Given the description of an element on the screen output the (x, y) to click on. 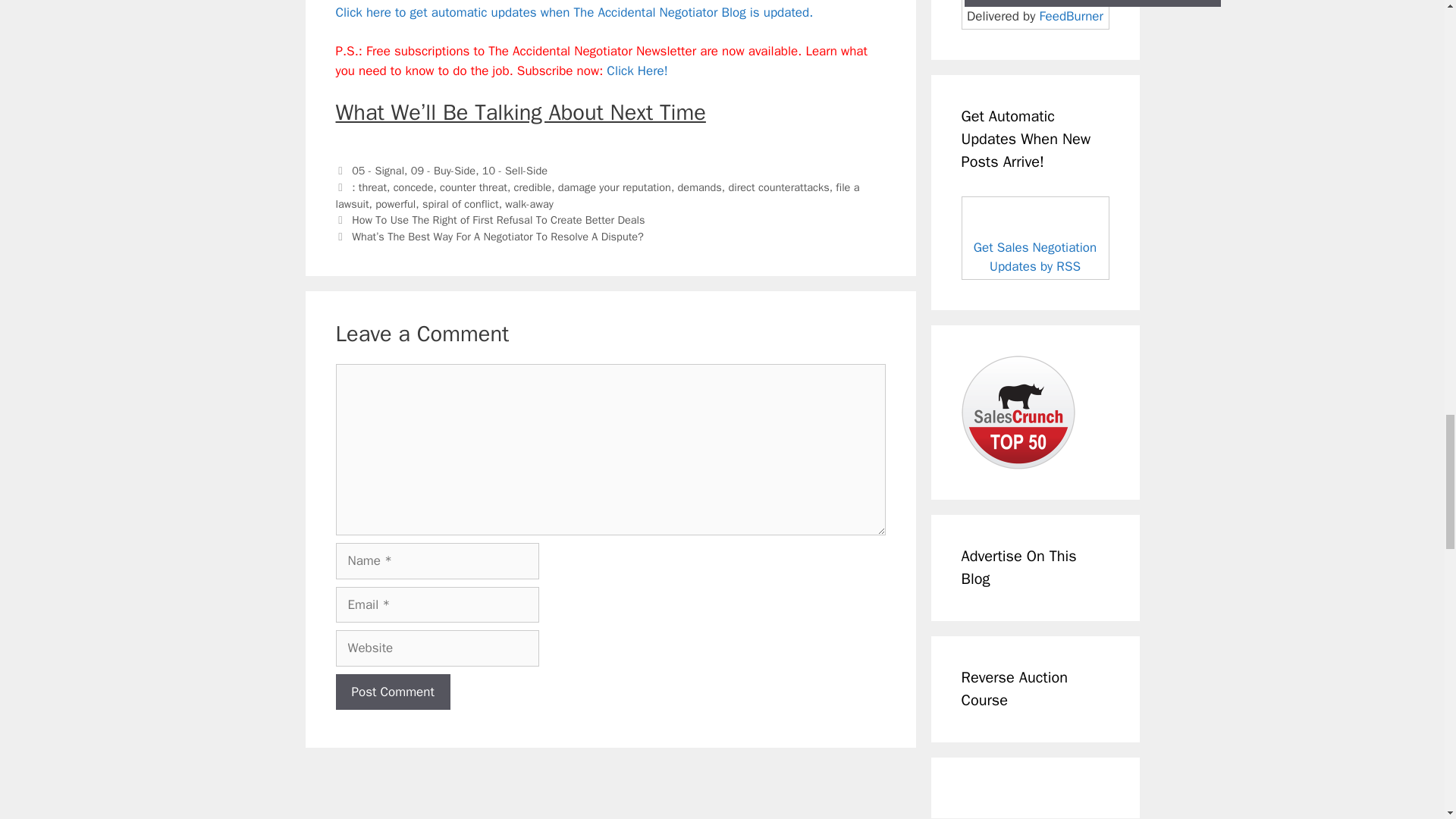
Subscribe to my feed (573, 12)
file a lawsuit (596, 195)
credible (532, 187)
10 - Sell-Side (514, 170)
Click Here! (636, 70)
spiral of conflict (460, 203)
walk-away (529, 203)
damage your reputation (614, 187)
powerful (394, 203)
The Accidental Negotiator Makes SalesCrunch's Top 50 List! (1017, 412)
Subscribe to The Accidental Negotiator Newsletter (636, 70)
: threat (369, 187)
Post Comment (391, 692)
09 - Buy-Side (443, 170)
counter threat (472, 187)
